Given the description of an element on the screen output the (x, y) to click on. 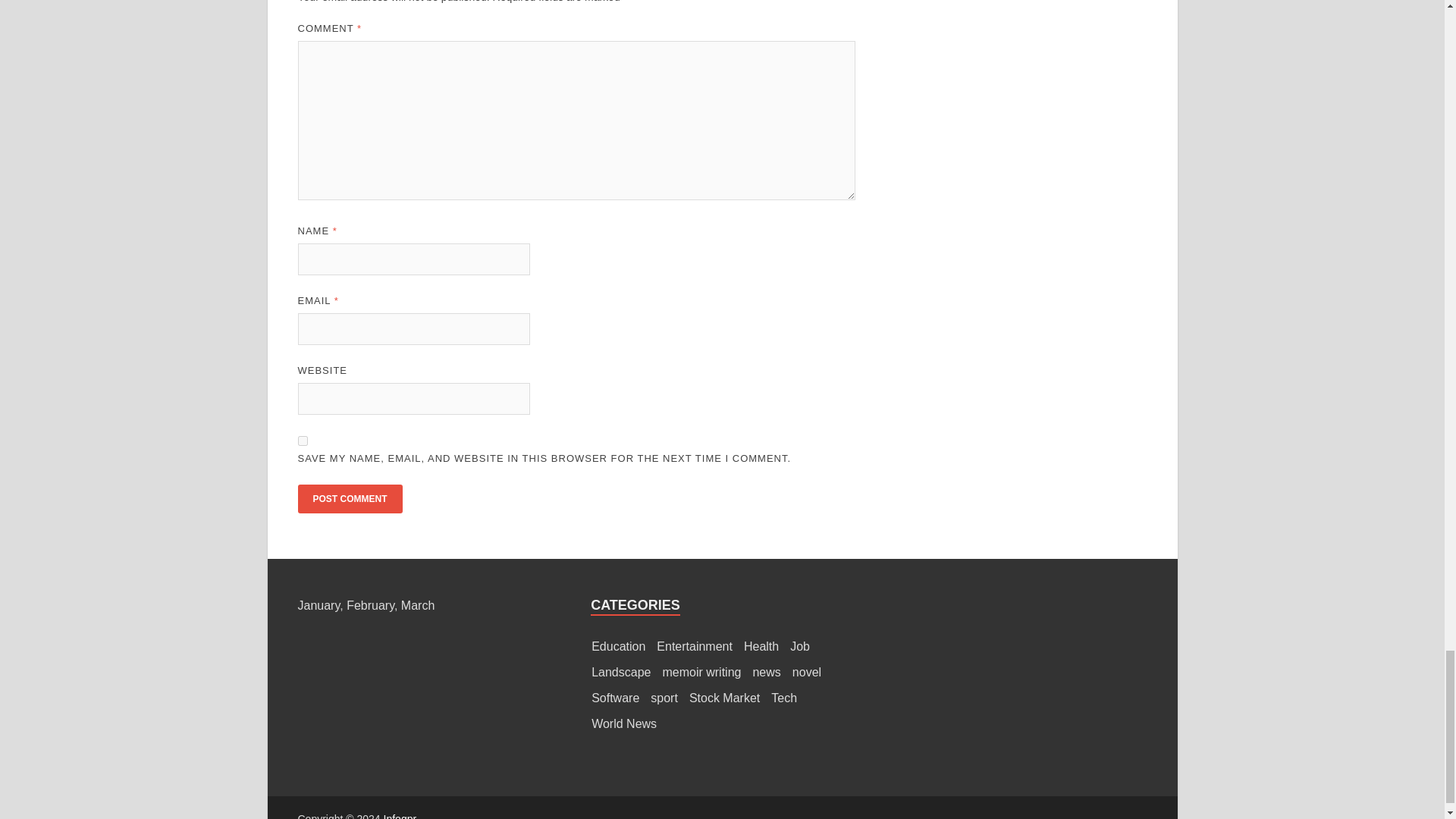
Post Comment (349, 498)
Post Comment (349, 498)
yes (302, 440)
